Given the description of an element on the screen output the (x, y) to click on. 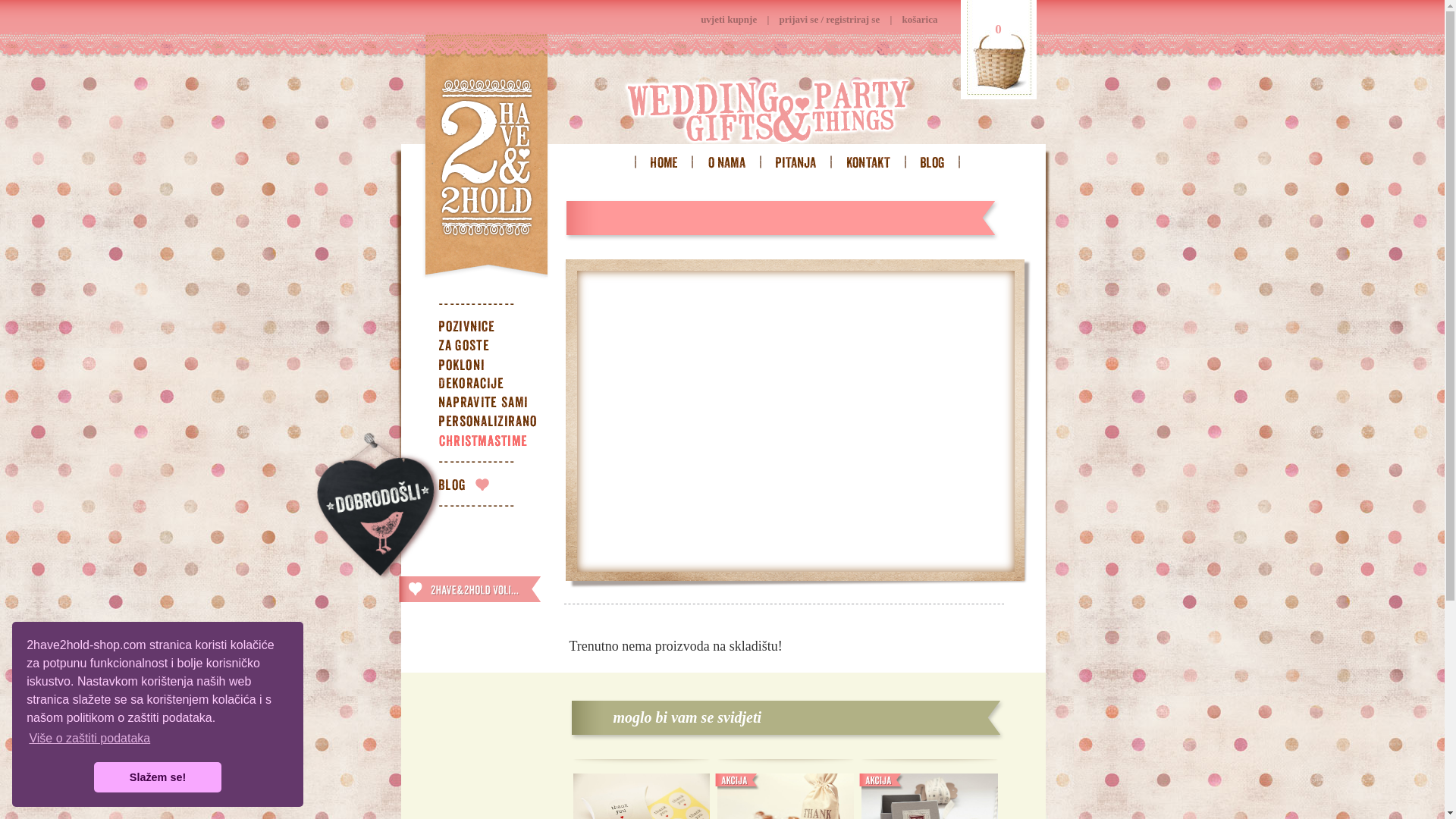
Originalni pokloni Element type: hover (495, 365)
Personalizirane sitnice Element type: hover (495, 422)
Dekoracija stola i ostale dekoracije Element type: hover (495, 384)
uvjeti kupnje Element type: text (728, 19)
Pokloni za goste Element type: hover (495, 346)
Naljepnice, privjesci, trake... Element type: hover (495, 403)
0 Element type: text (997, 49)
prijavi se / registriraj se Element type: text (829, 19)
